Given the description of an element on the screen output the (x, y) to click on. 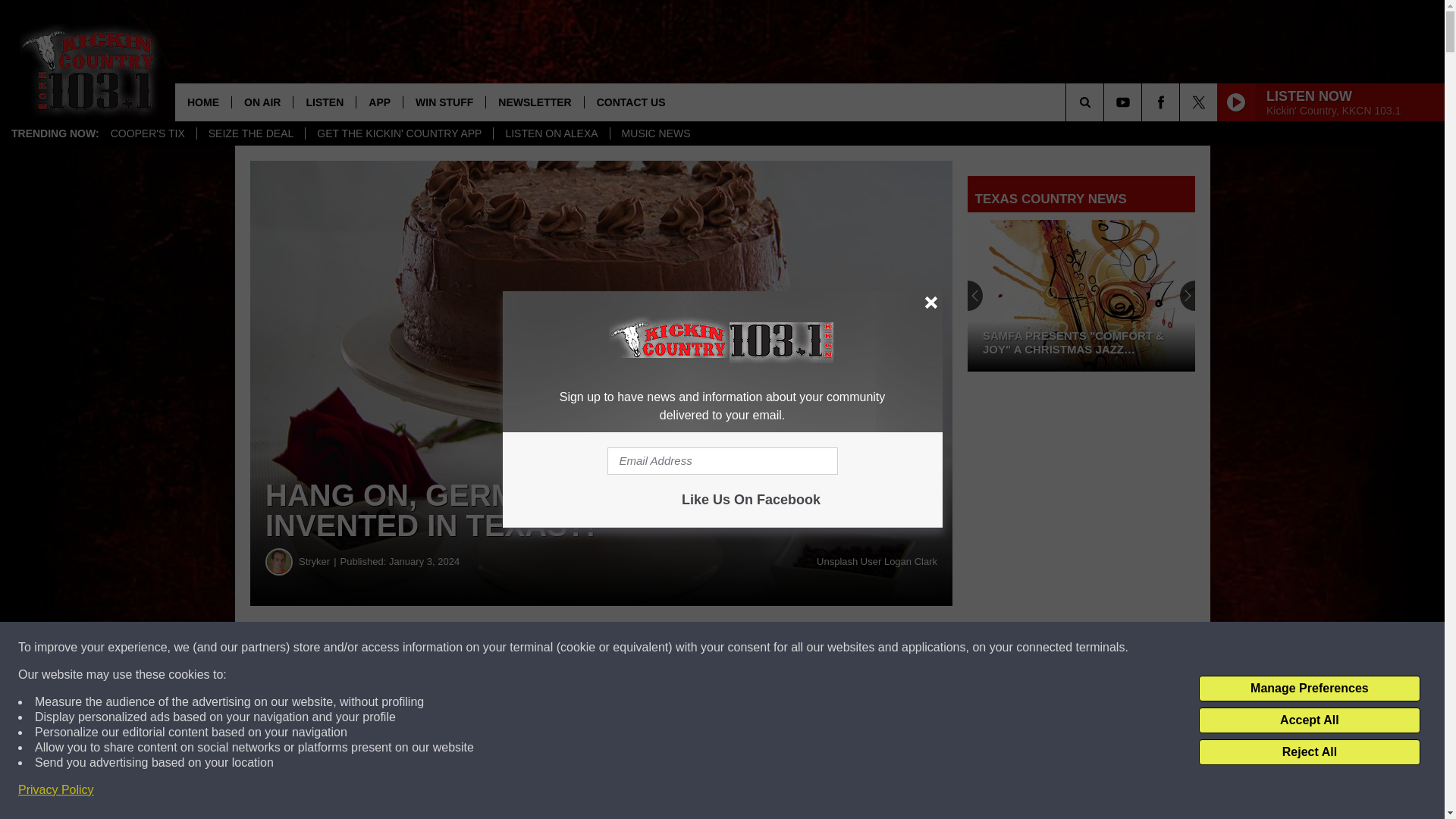
Manage Preferences (1309, 688)
COOPER'S TIX (147, 133)
SEARCH (1106, 102)
CONTACT US (630, 102)
Email Address (722, 461)
ON AIR (261, 102)
SEARCH (1106, 102)
SEIZE THE DEAL (250, 133)
HOME (202, 102)
Reject All (1309, 751)
Share on Twitter (741, 647)
Share on Facebook (460, 647)
GET THE KICKIN' COUNTRY APP (398, 133)
NEWSLETTER (533, 102)
Accept All (1309, 720)
